Given the description of an element on the screen output the (x, y) to click on. 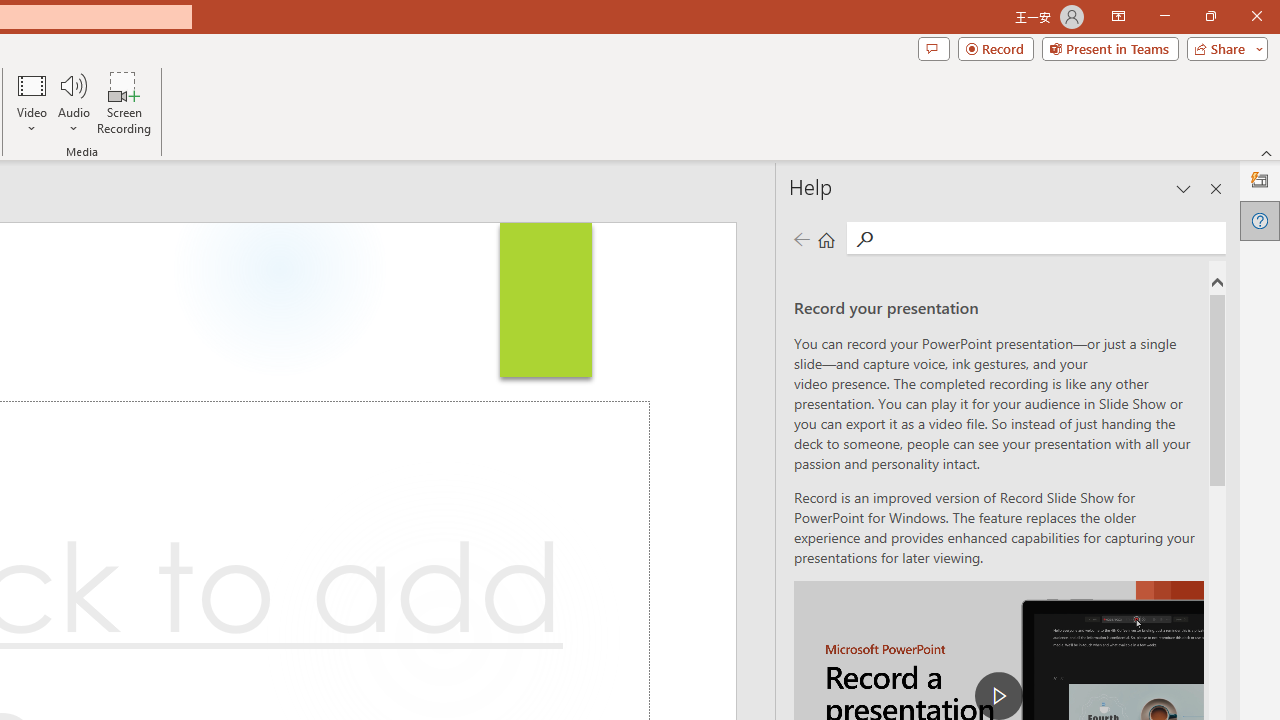
play Record a Presentation (998, 695)
Video (31, 102)
Screen Recording... (123, 102)
